Given the description of an element on the screen output the (x, y) to click on. 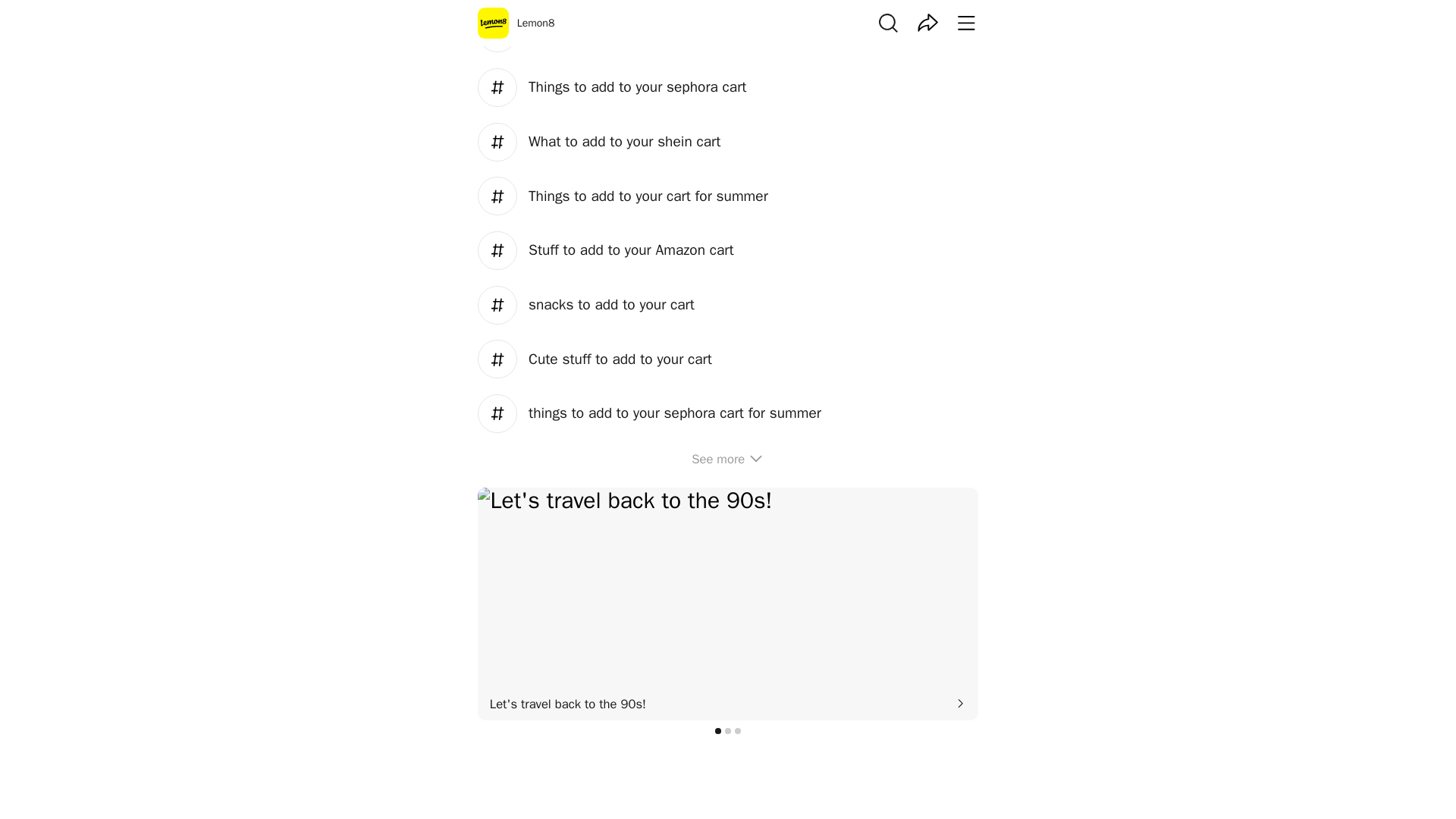
snacks to add to your cart (727, 304)
Things to add to your sephora cart (727, 87)
Stuff to add to your Amazon cart (727, 250)
Things to add to your amazon cart (727, 32)
Cute stuff to add to your cart (727, 359)
things to add to your sephora cart for summer (727, 413)
Things to add to your cart for summer (727, 195)
What to add to your shein cart (727, 141)
